Given the description of an element on the screen output the (x, y) to click on. 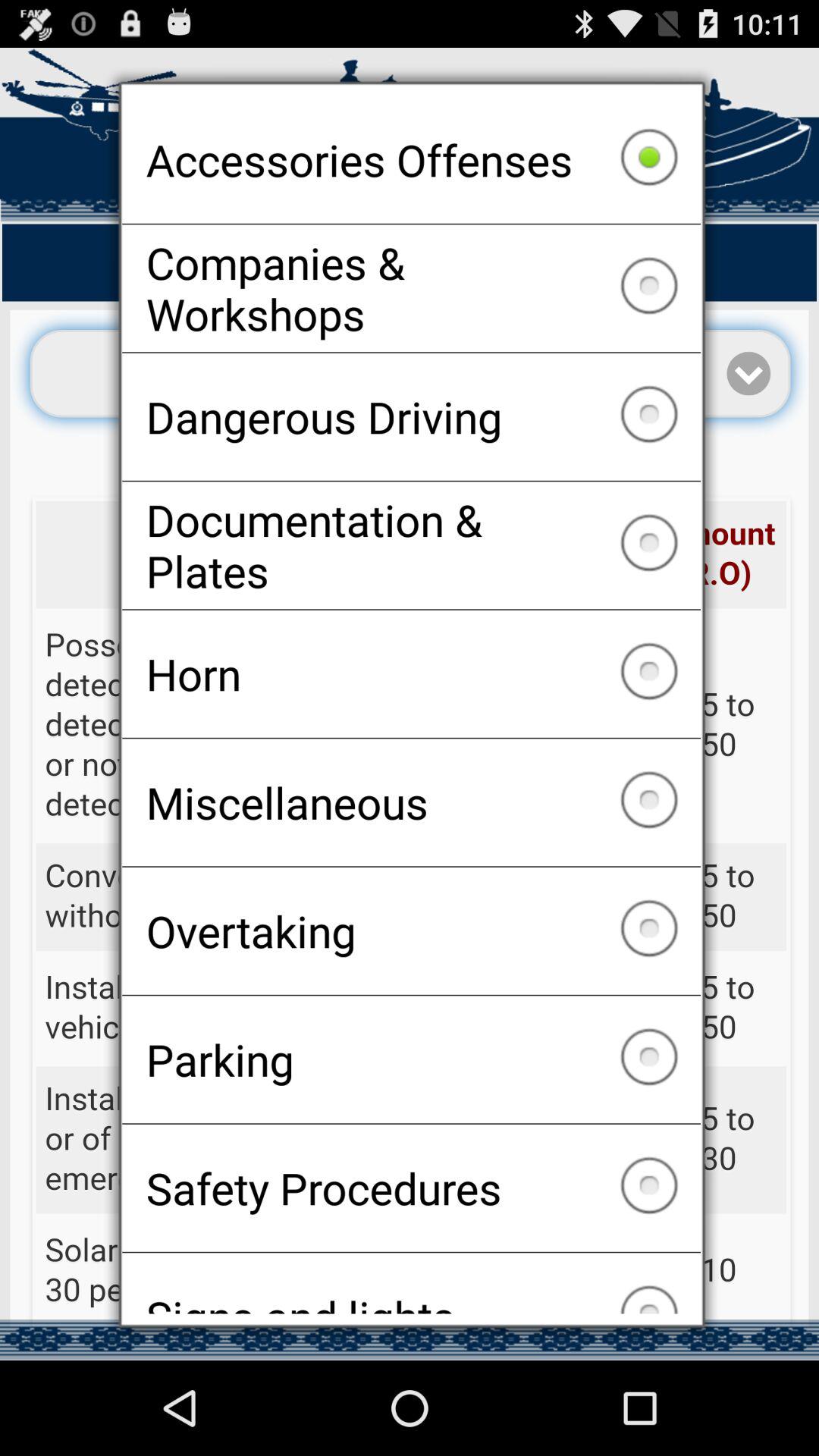
click accessories offenses checkbox (411, 159)
